Given the description of an element on the screen output the (x, y) to click on. 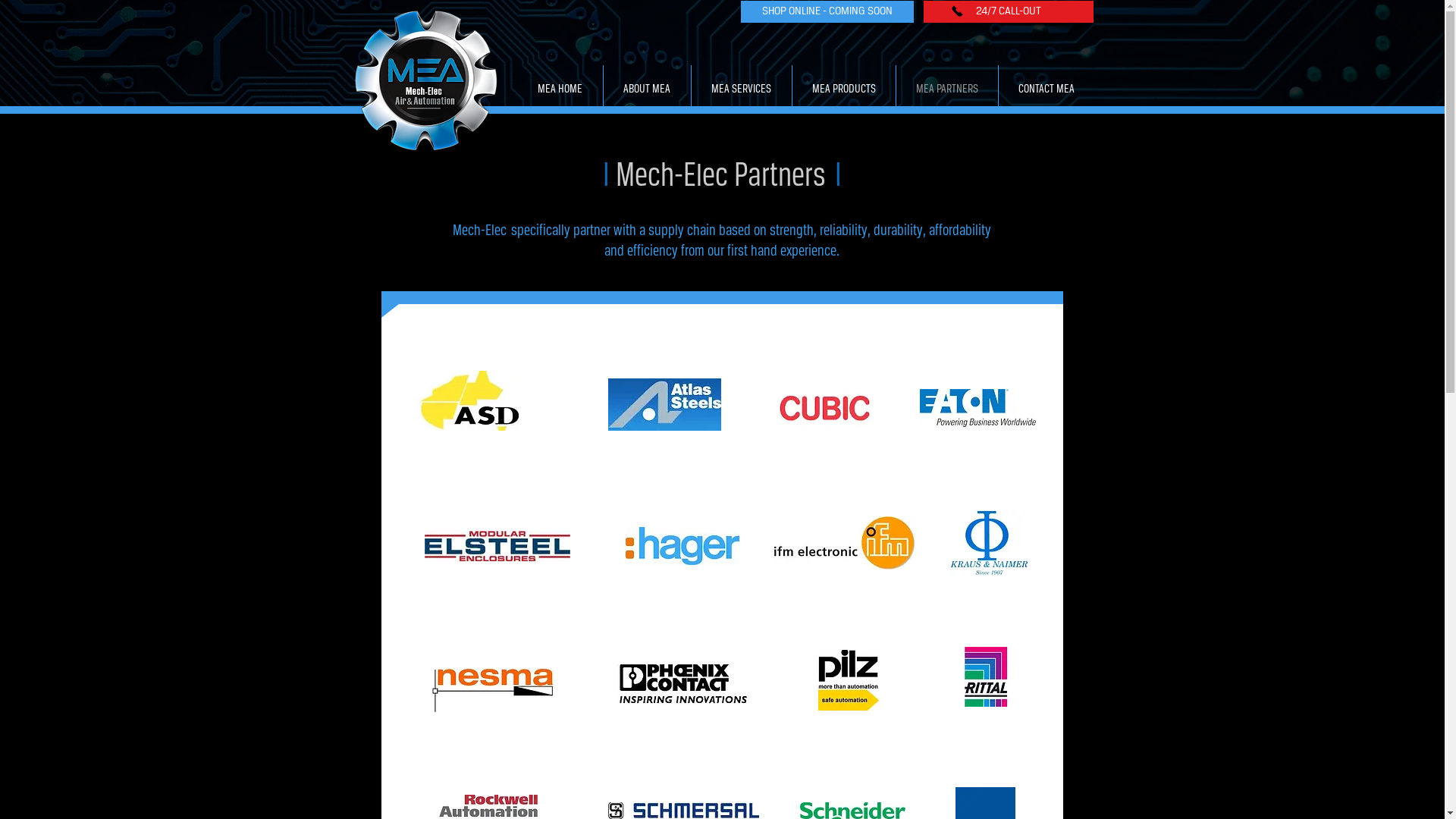
CONTACT MEA Element type: text (1045, 89)
MEA PRODUCTS Element type: text (842, 89)
24/7 CALL-OUT Element type: text (1008, 11)
MEA HOME Element type: text (559, 89)
MEA PARTNERS Element type: text (946, 89)
MEA SERVICES Element type: text (741, 89)
